Given the description of an element on the screen output the (x, y) to click on. 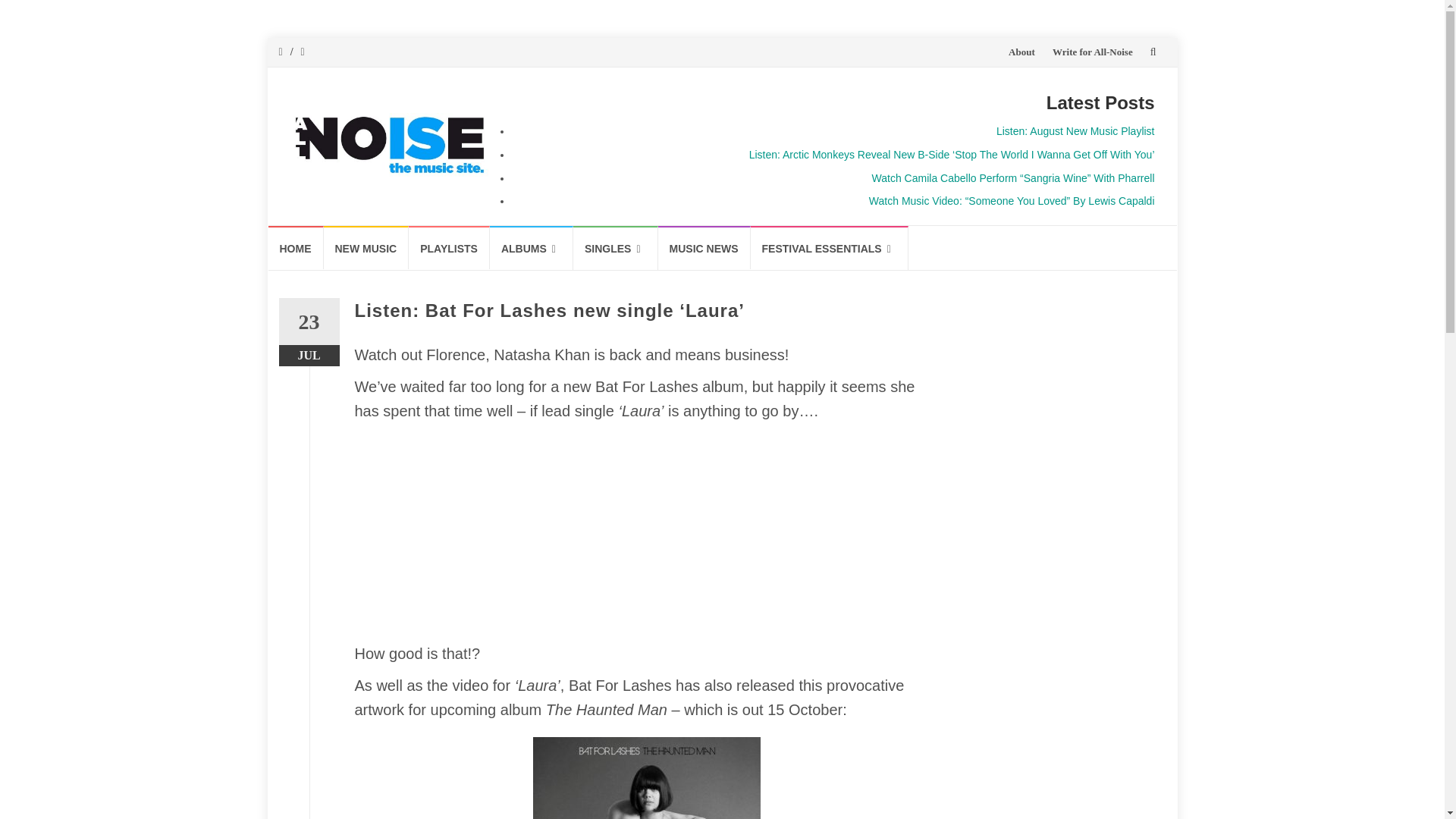
BFL-The-Haunted-Man (646, 778)
HOME (295, 247)
FESTIVAL ESSENTIALS (829, 248)
Write for All-Noise (1092, 51)
PLAYLISTS (449, 247)
MUSIC NEWS (704, 247)
ALBUMS (531, 248)
